Given the description of an element on the screen output the (x, y) to click on. 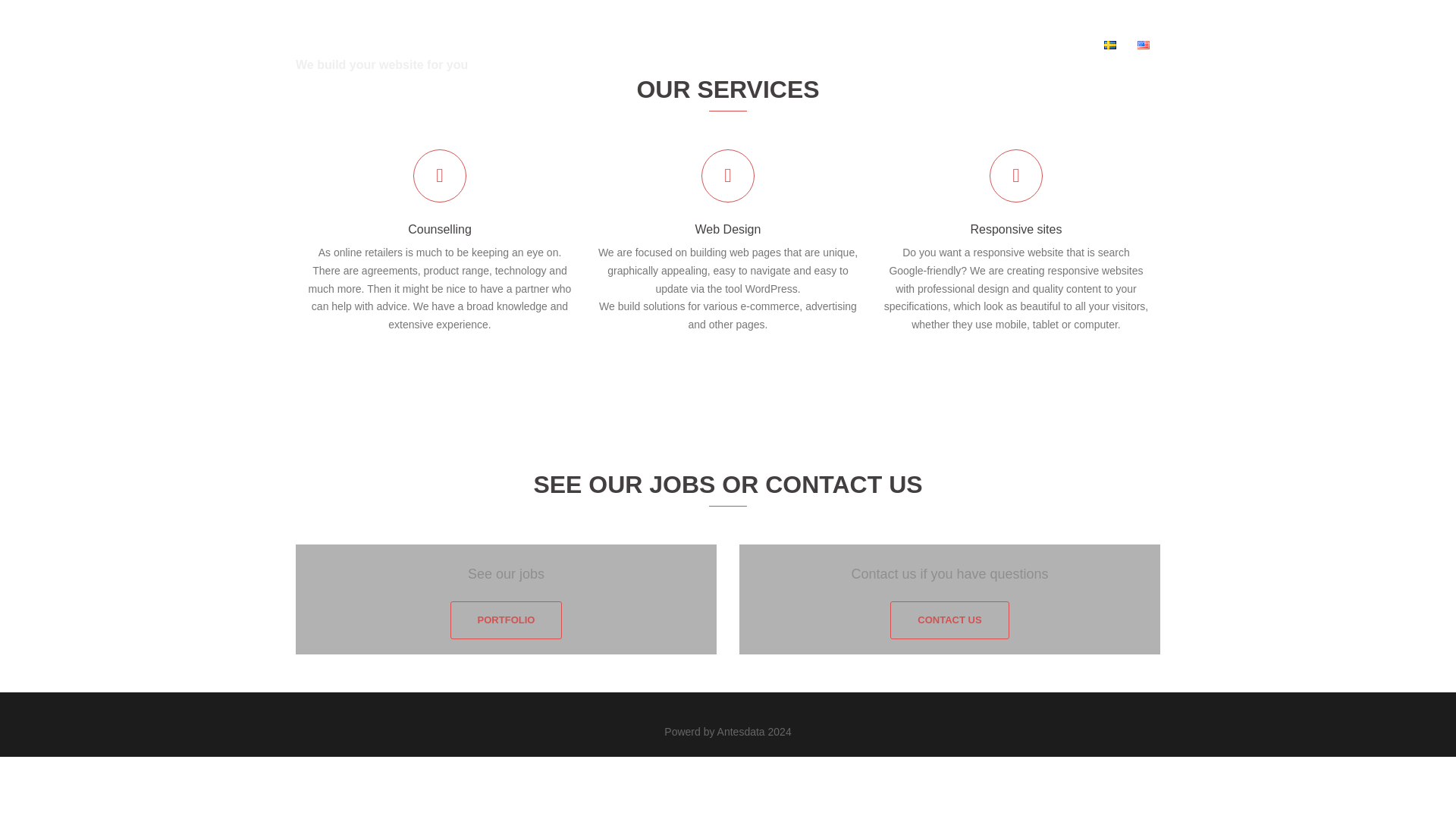
About (930, 45)
Our Work (987, 45)
Home (880, 45)
PORTFOLIO (505, 620)
Antesdata (354, 29)
Powerd by Antesdata 2024 (726, 731)
CONTACT US (949, 620)
Contact us (1057, 45)
